Given the description of an element on the screen output the (x, y) to click on. 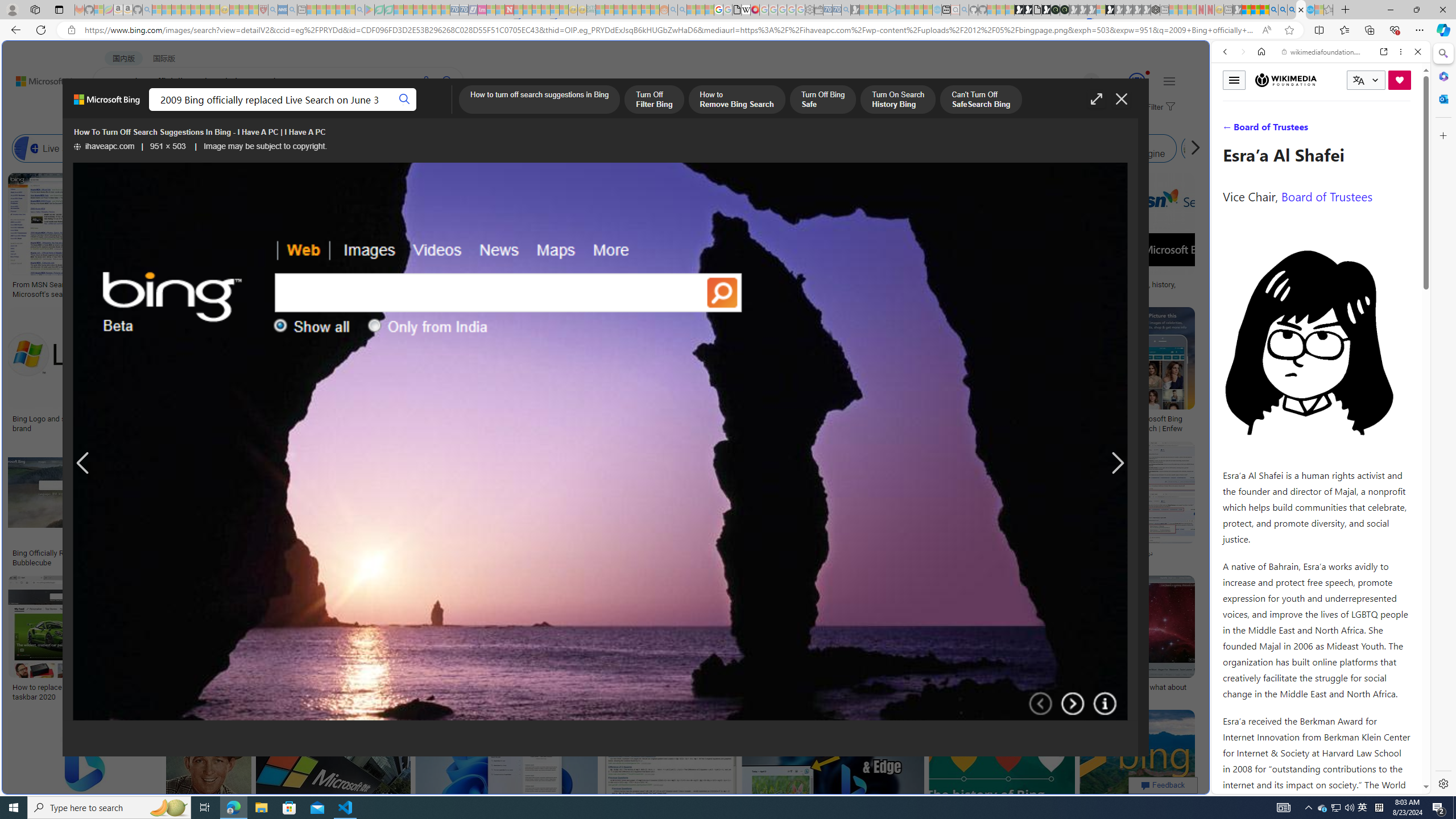
Bing (2009) (RARE/FAKE) - YouTubeSave (944, 505)
